Given the description of an element on the screen output the (x, y) to click on. 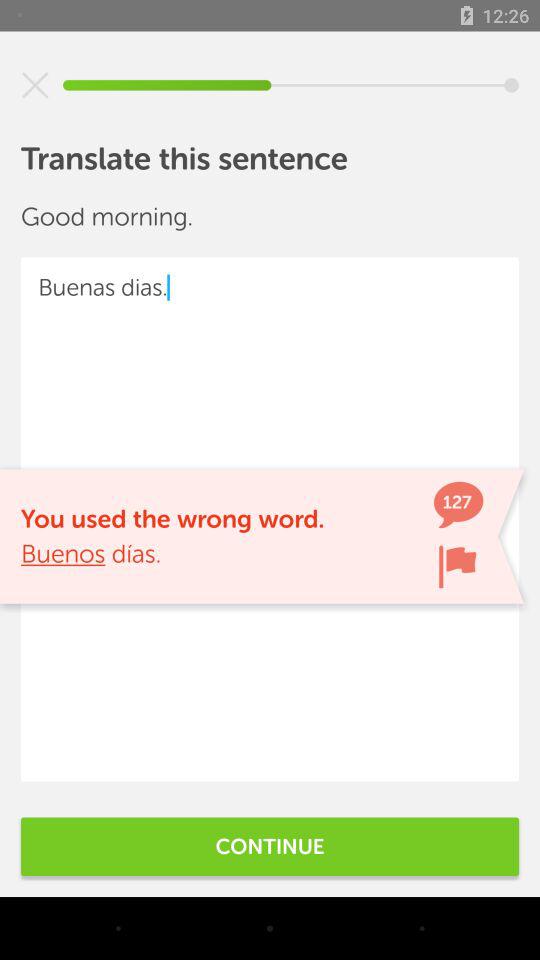
swipe to the continue (270, 846)
